Given the description of an element on the screen output the (x, y) to click on. 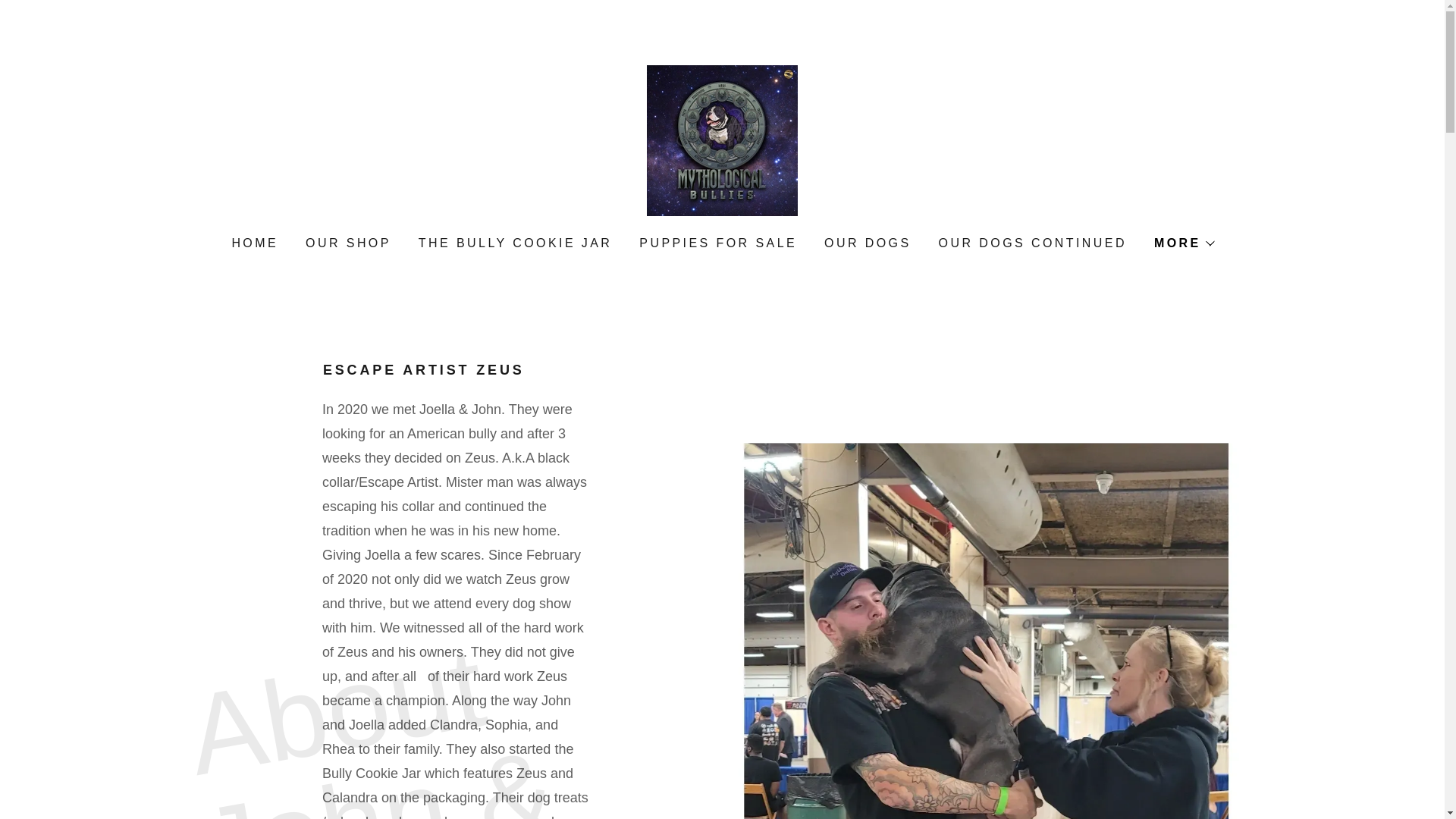
THE BULLY COOKIE JAR (513, 243)
OUR DOGS CONTINUED (1031, 243)
HOME (253, 243)
PUPPIES FOR SALE (716, 243)
OUR SHOP (347, 243)
MORE (1183, 243)
OUR DOGS (865, 243)
Mythologicalbullies (721, 139)
